Given the description of an element on the screen output the (x, y) to click on. 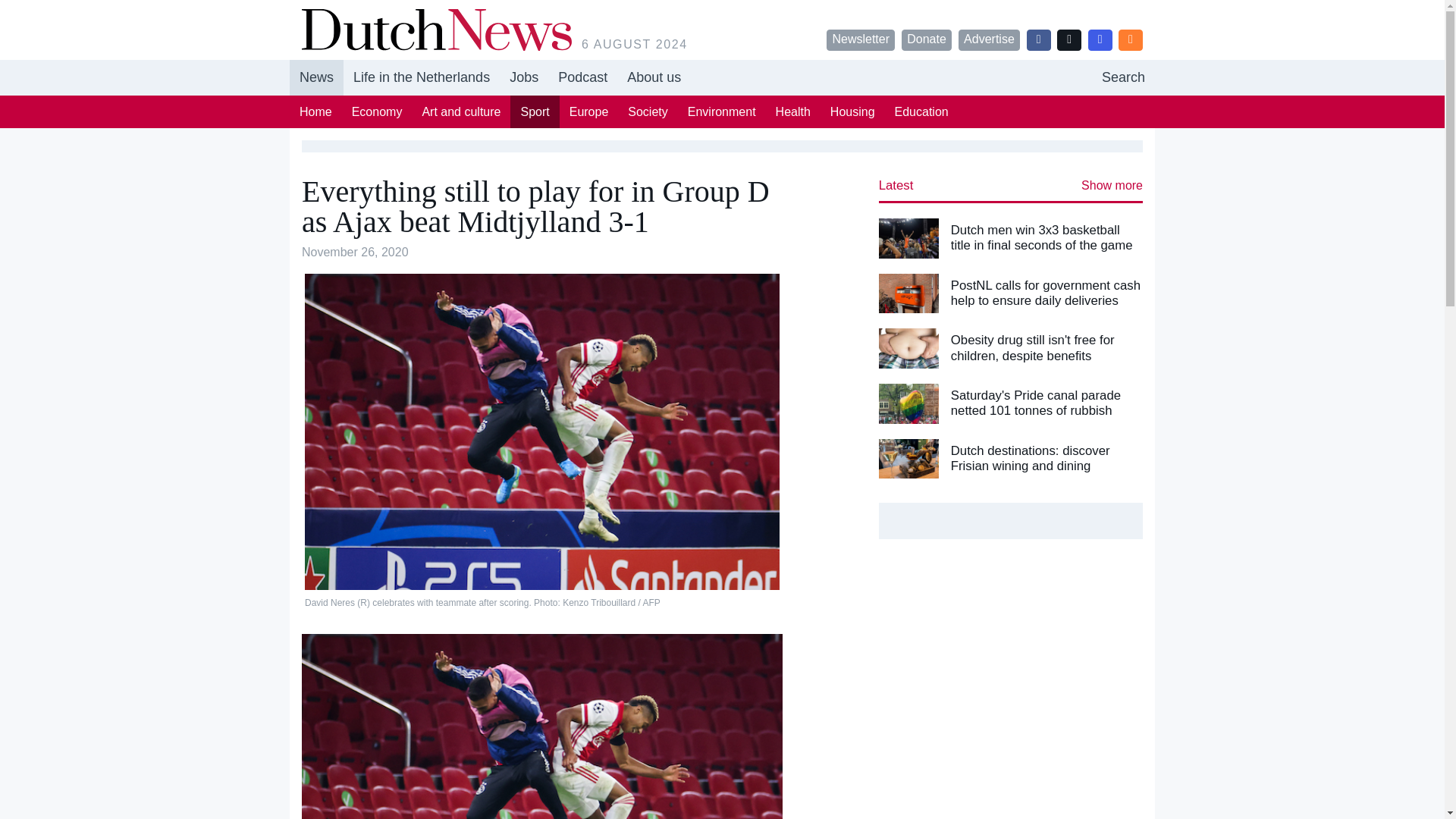
Life in the Netherlands (421, 77)
Europe (588, 111)
Art and culture (461, 111)
Health (793, 111)
hidden-in-footer (721, 77)
Economy (582, 77)
Housing (377, 111)
hidden-in-footer (853, 111)
Podcast (523, 77)
News (582, 77)
Society (316, 77)
Advertise (647, 111)
hidden-in-footer (989, 39)
